Given the description of an element on the screen output the (x, y) to click on. 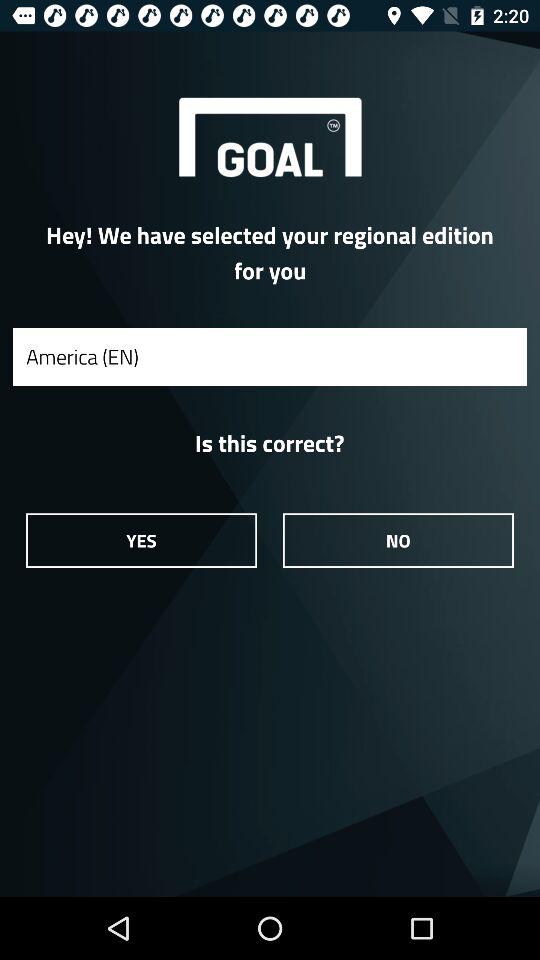
turn on icon above the is this correct? item (269, 356)
